Given the description of an element on the screen output the (x, y) to click on. 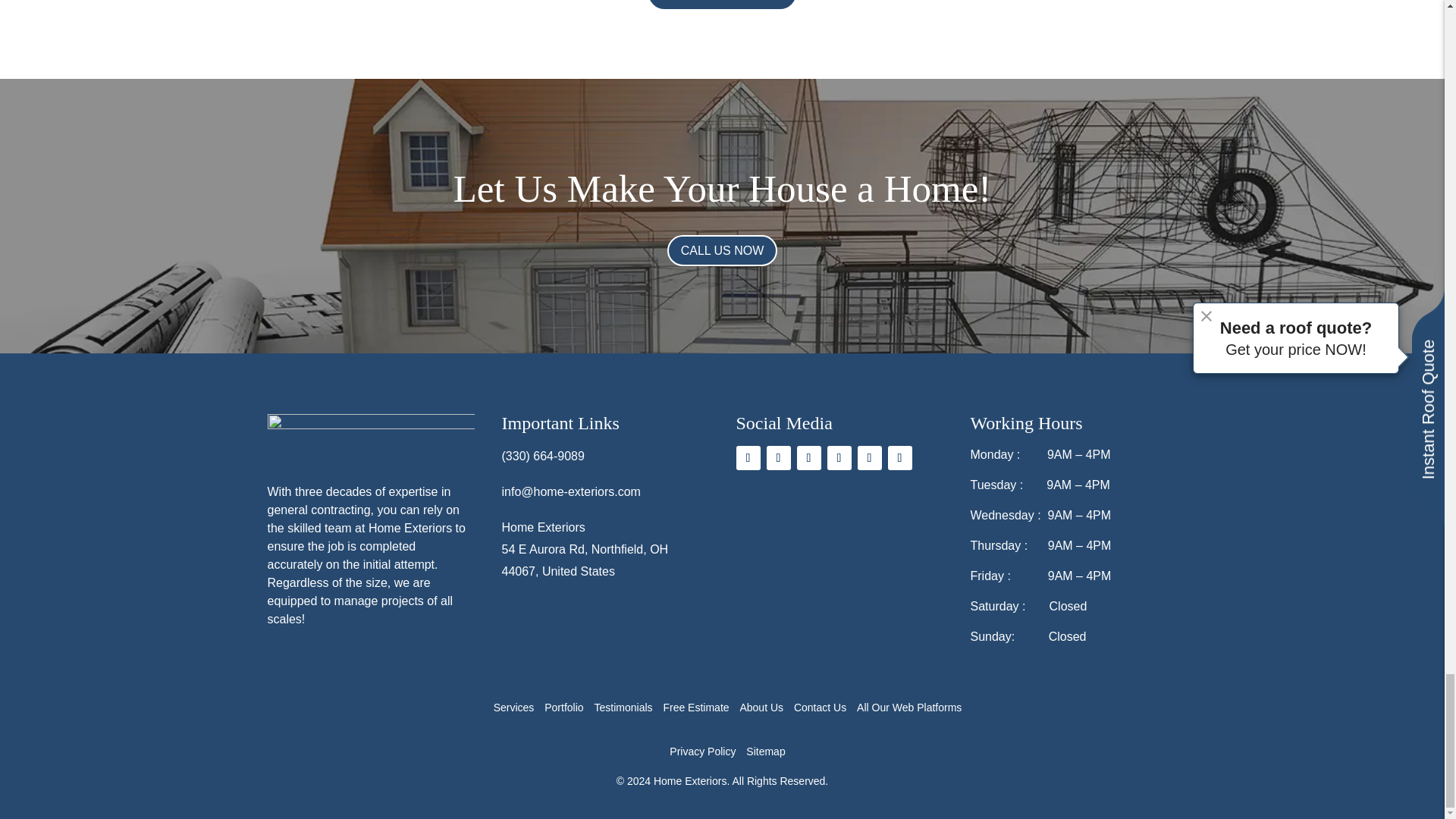
Follow on Behance (898, 457)
Follow on Bandcamp (868, 457)
Follow on Facebook (747, 457)
Follow on Google (838, 457)
Follow on Instagram (777, 457)
Follow on Yelp (808, 457)
